Given the description of an element on the screen output the (x, y) to click on. 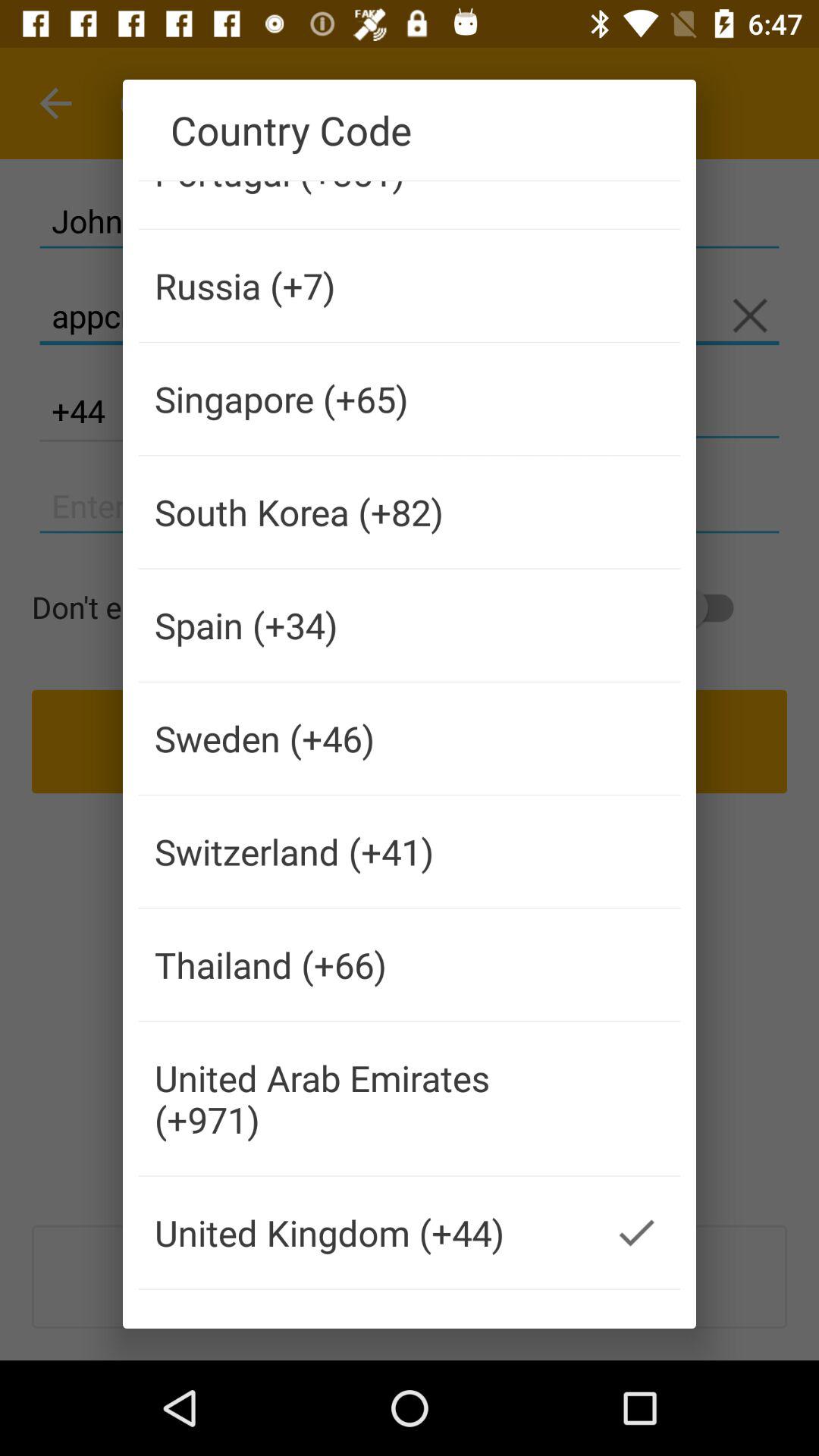
tap the icon below united kingdom (+44) icon (365, 1300)
